Given the description of an element on the screen output the (x, y) to click on. 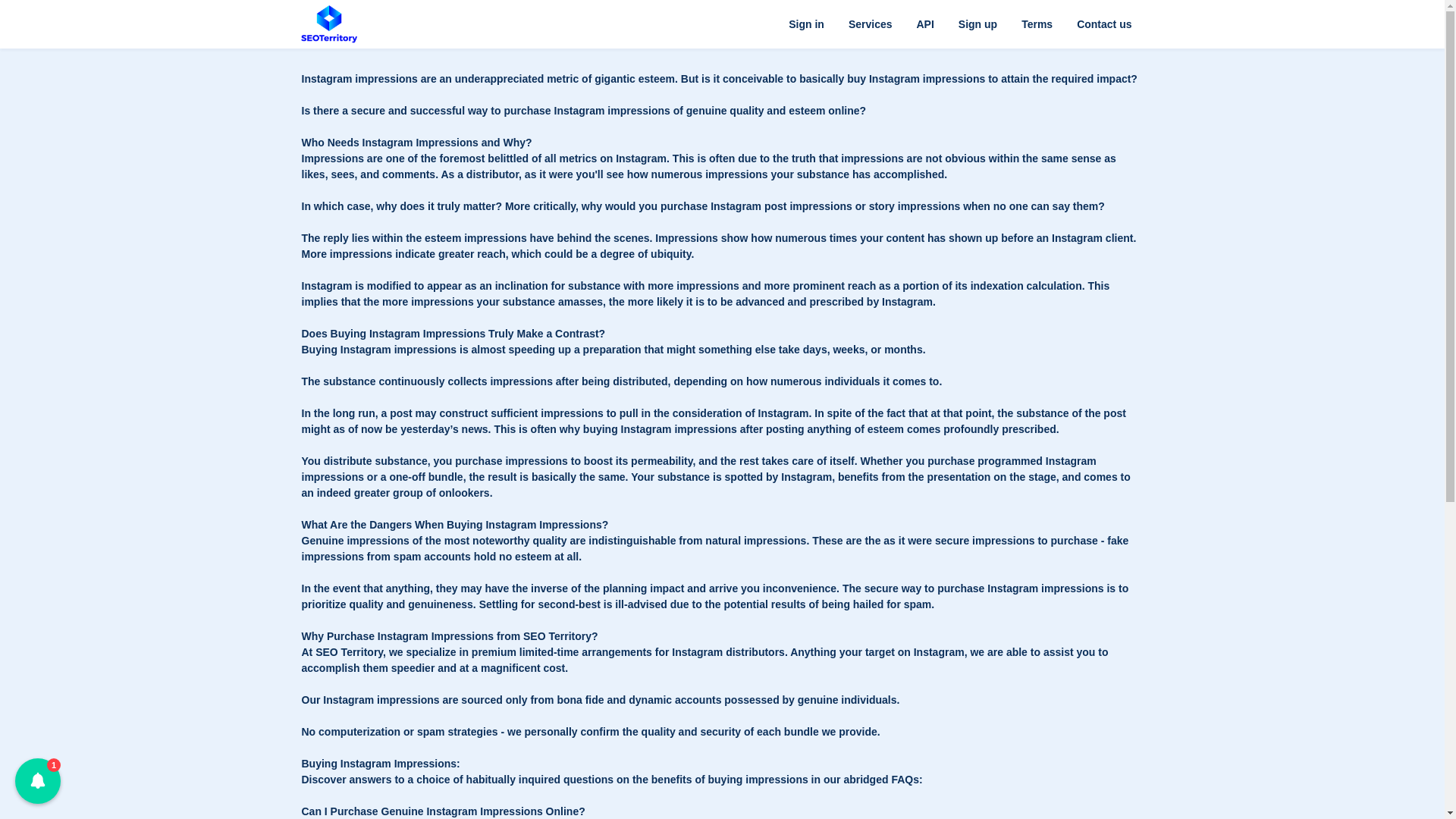
API (924, 24)
Contact us (1103, 24)
Sign up (977, 24)
Terms (1036, 24)
Sign in (805, 24)
Services (869, 24)
